Given the description of an element on the screen output the (x, y) to click on. 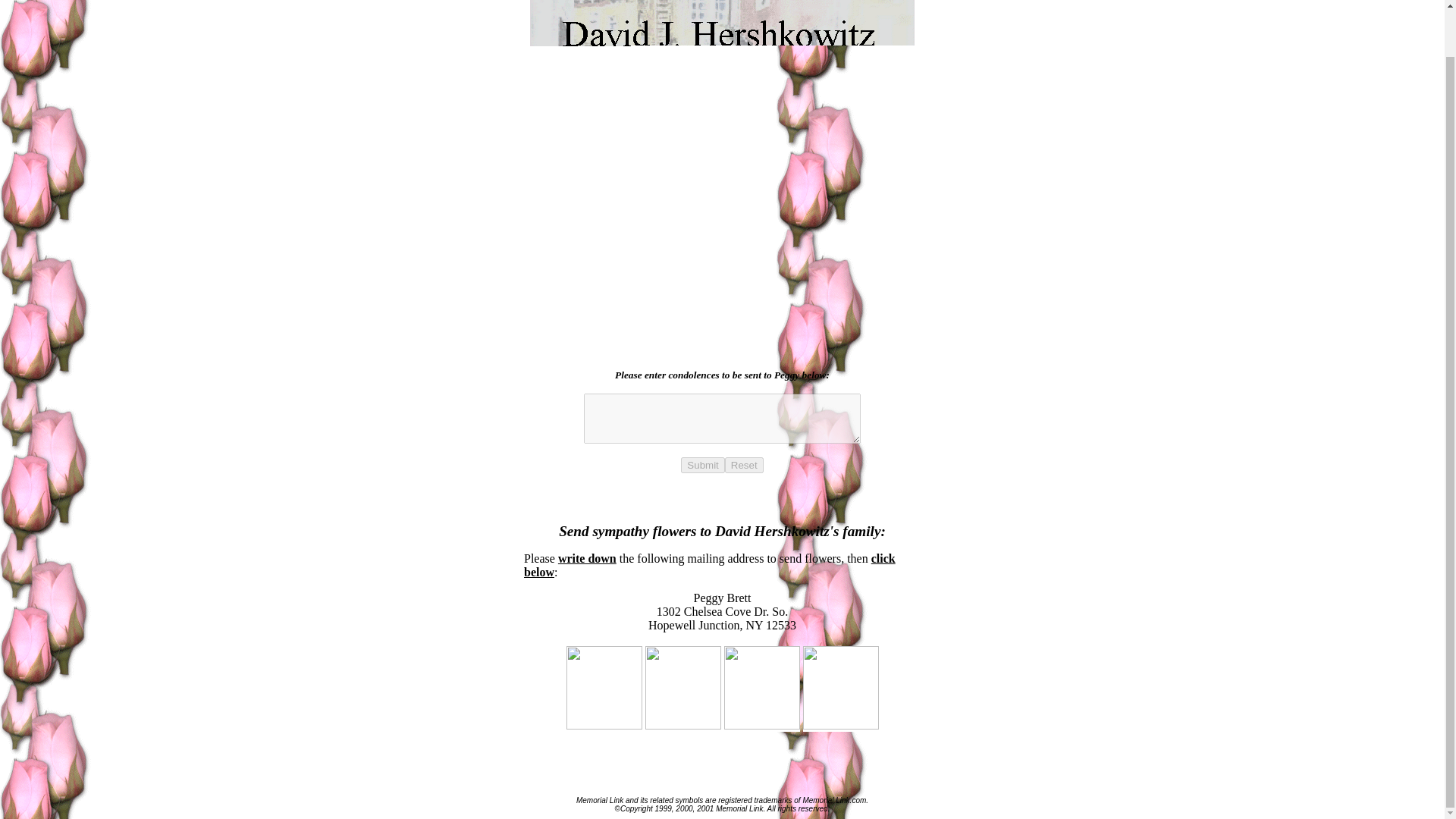
Reset (743, 465)
Submit (702, 465)
Submit (702, 465)
